Given the description of an element on the screen output the (x, y) to click on. 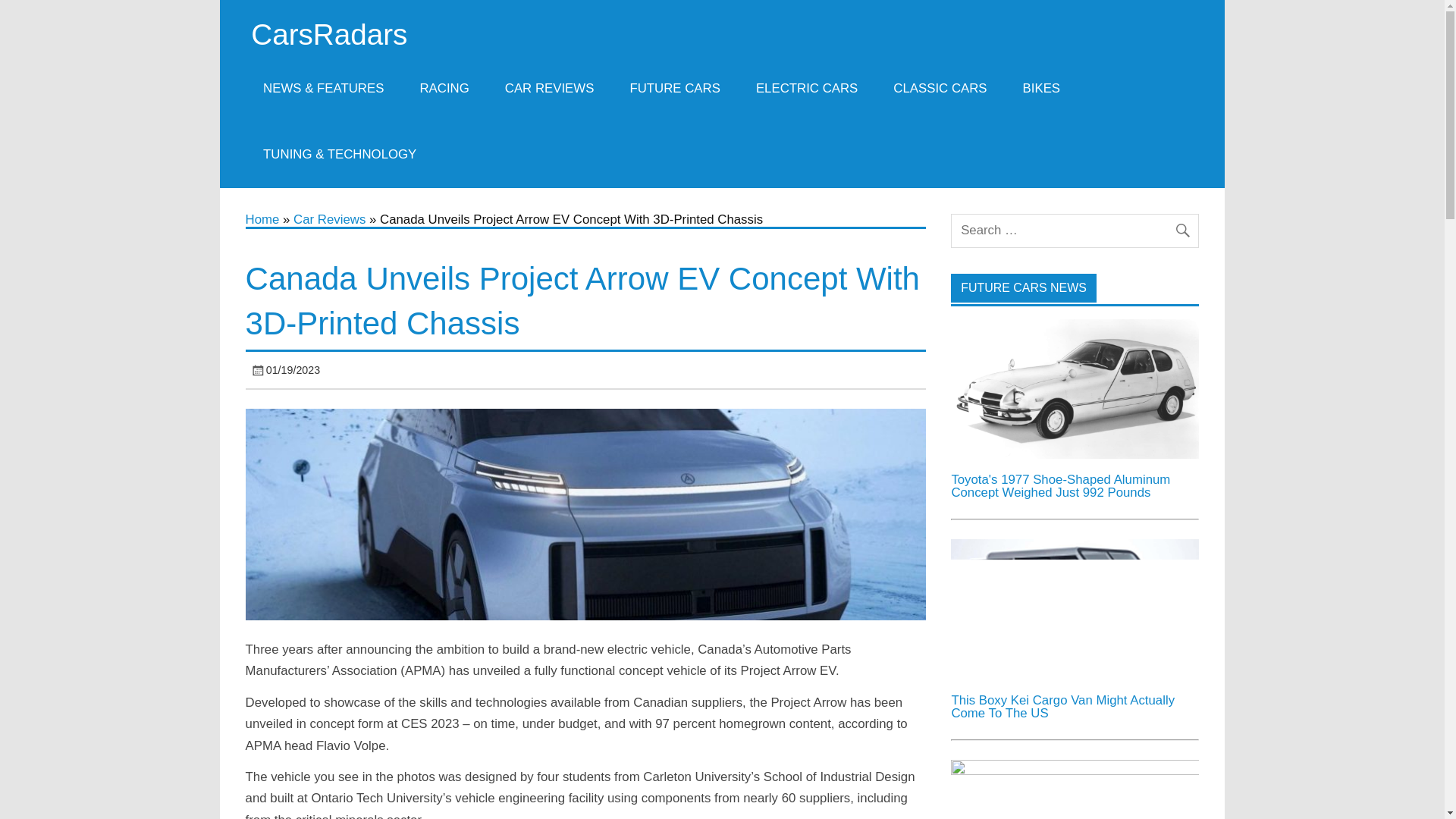
Home (262, 219)
RACING (443, 88)
ELECTRIC CARS (806, 88)
FUTURE CARS (674, 88)
BIKES (1041, 88)
Car Reviews (329, 219)
